Given the description of an element on the screen output the (x, y) to click on. 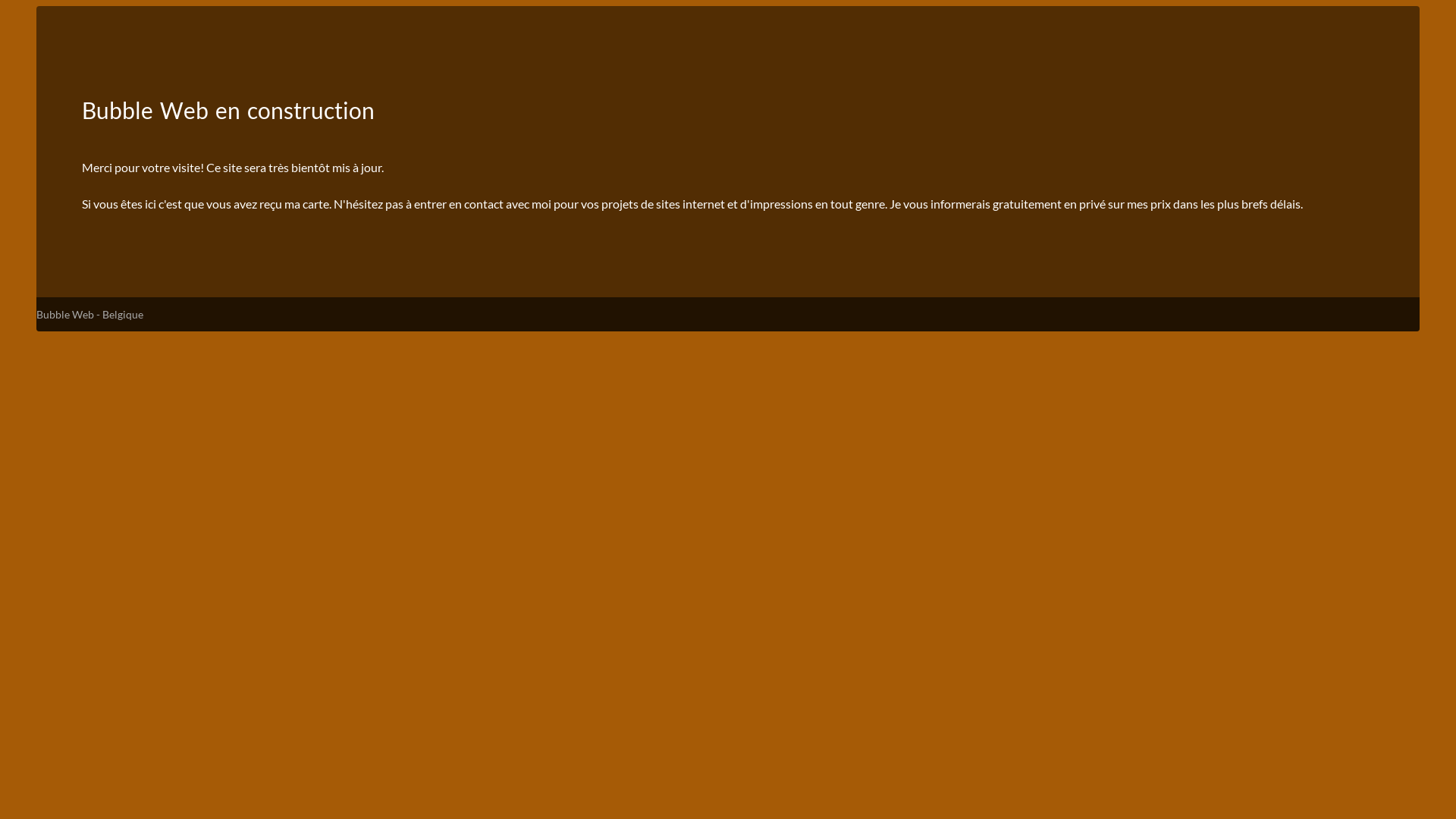
Top Element type: text (1419, 782)
